Given the description of an element on the screen output the (x, y) to click on. 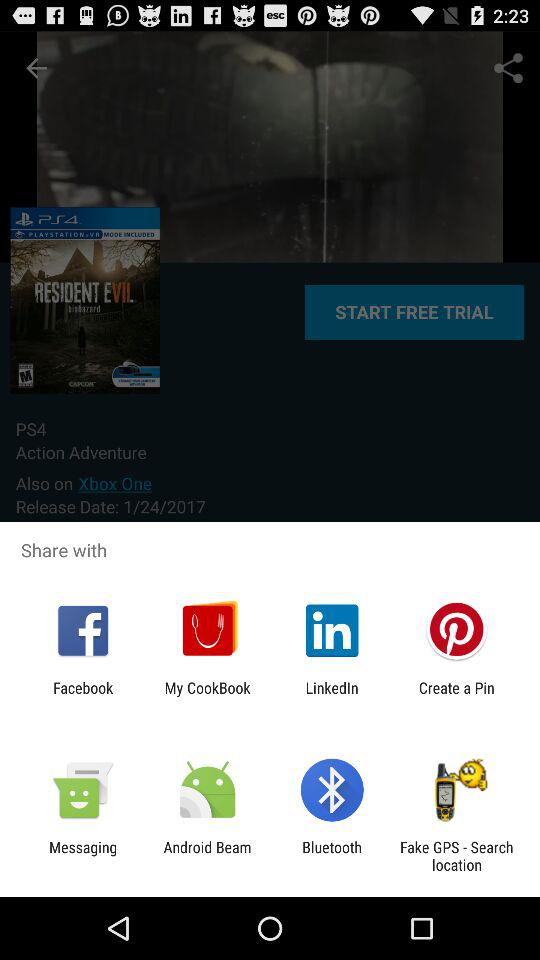
turn on the facebook icon (83, 696)
